Given the description of an element on the screen output the (x, y) to click on. 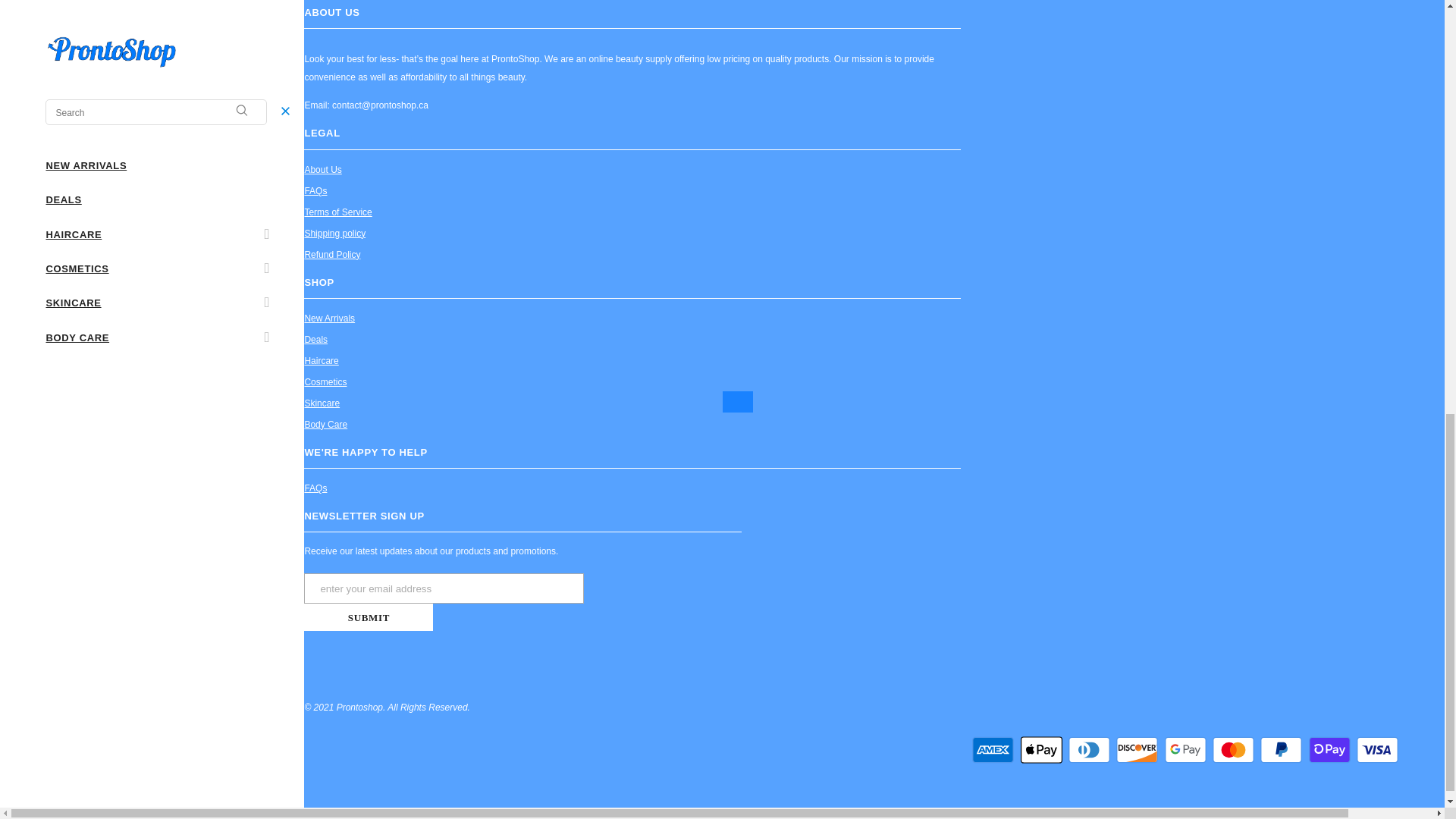
Submit (368, 616)
Discover (1136, 749)
Visa (1376, 749)
About Us (322, 169)
Deals (315, 339)
Terms of Service (337, 211)
Shipping policy (334, 233)
American Express (992, 749)
New Arrivals (329, 318)
Diners Club (1088, 749)
